Given the description of an element on the screen output the (x, y) to click on. 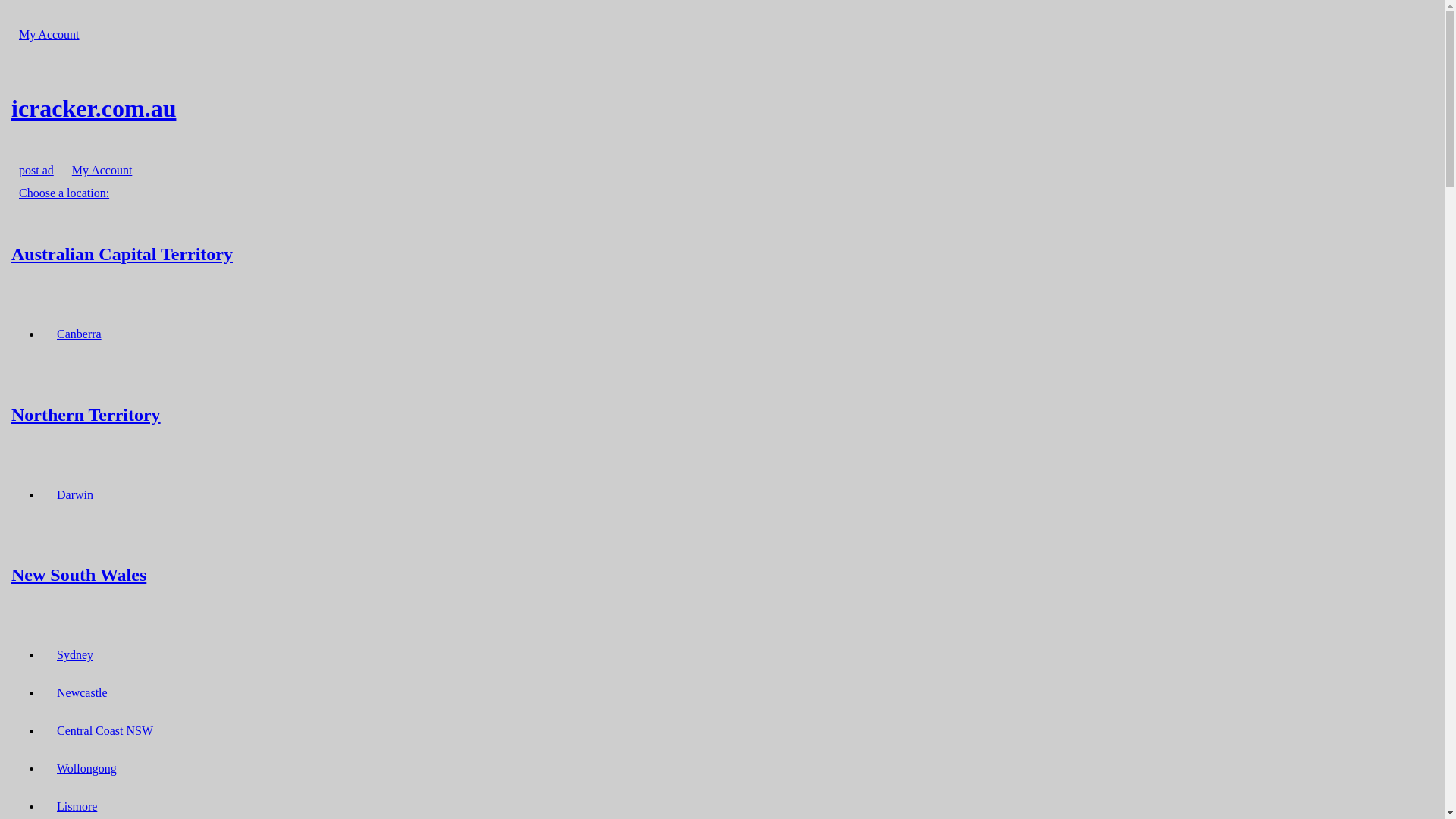
icracker.com.au Element type: text (722, 108)
Australian Capital Territory Element type: text (722, 253)
Northern Territory Element type: text (722, 414)
New South Wales Element type: text (722, 575)
My Account Element type: text (102, 170)
Sydney Element type: text (74, 654)
Choose a location: Element type: text (63, 192)
Wollongong Element type: text (86, 768)
My Account Element type: text (49, 34)
Newcastle Element type: text (82, 692)
post ad Element type: text (36, 170)
Central Coast NSW Element type: text (104, 730)
Darwin Element type: text (74, 494)
Canberra Element type: text (79, 334)
